Given the description of an element on the screen output the (x, y) to click on. 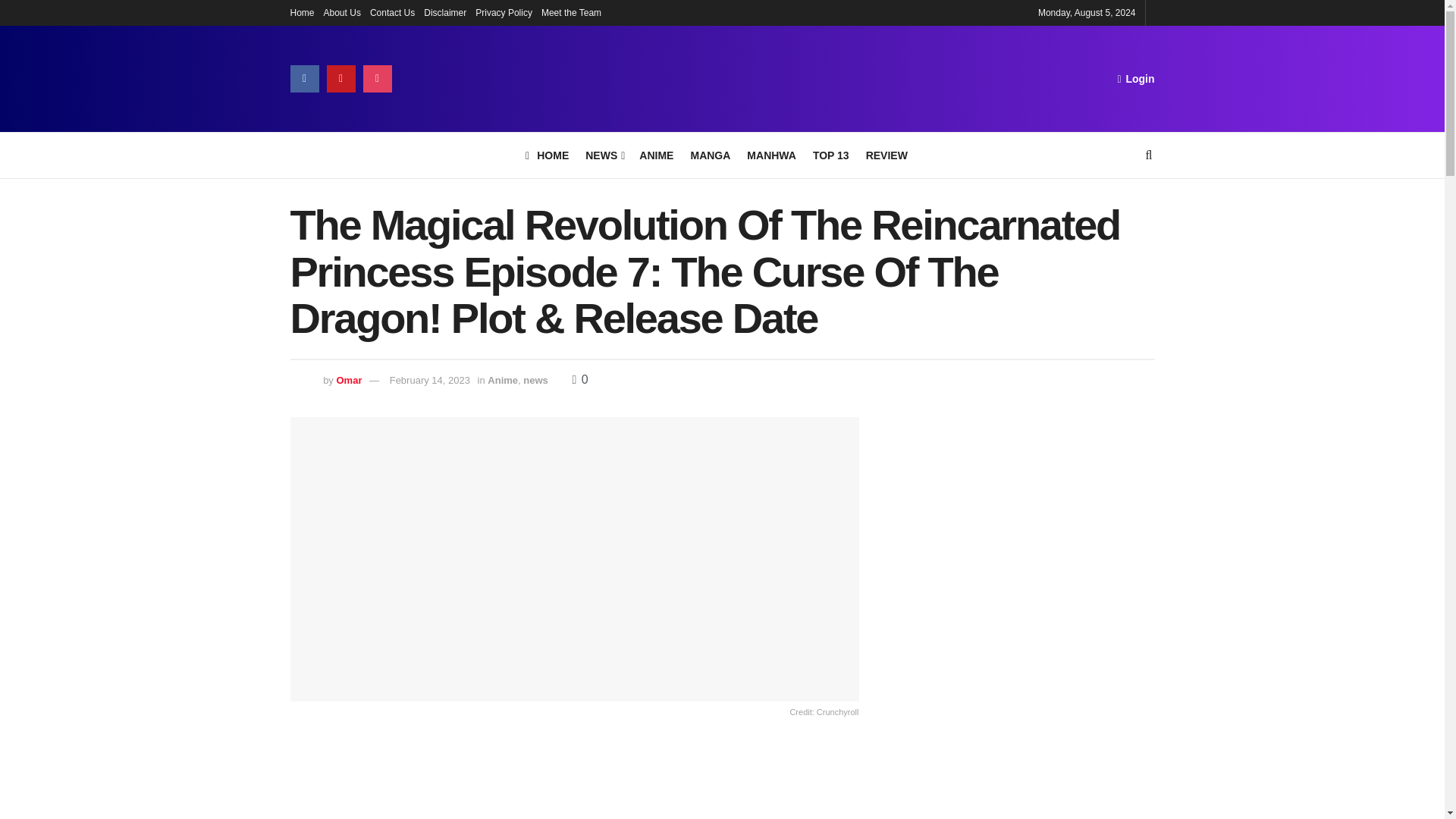
Meet the Team (571, 12)
HOME (547, 155)
NEWS (604, 155)
Contact Us (391, 12)
Home (301, 12)
About Us (342, 12)
MANHWA (771, 155)
Privacy Policy (504, 12)
Disclaimer (444, 12)
MANGA (710, 155)
REVIEW (886, 155)
ANIME (655, 155)
TOP 13 (830, 155)
Login (1135, 78)
